Given the description of an element on the screen output the (x, y) to click on. 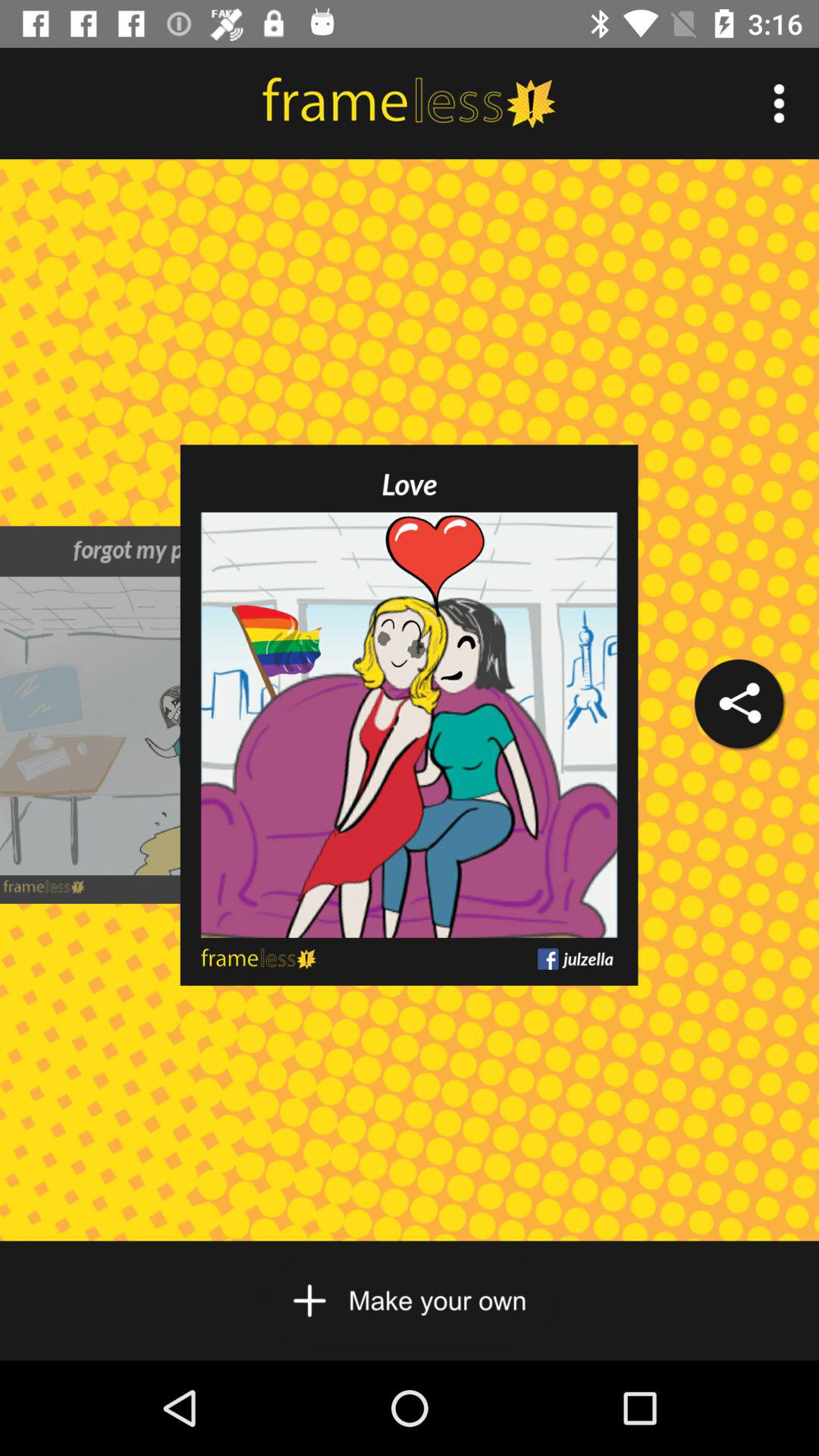
create your own (409, 1300)
